Given the description of an element on the screen output the (x, y) to click on. 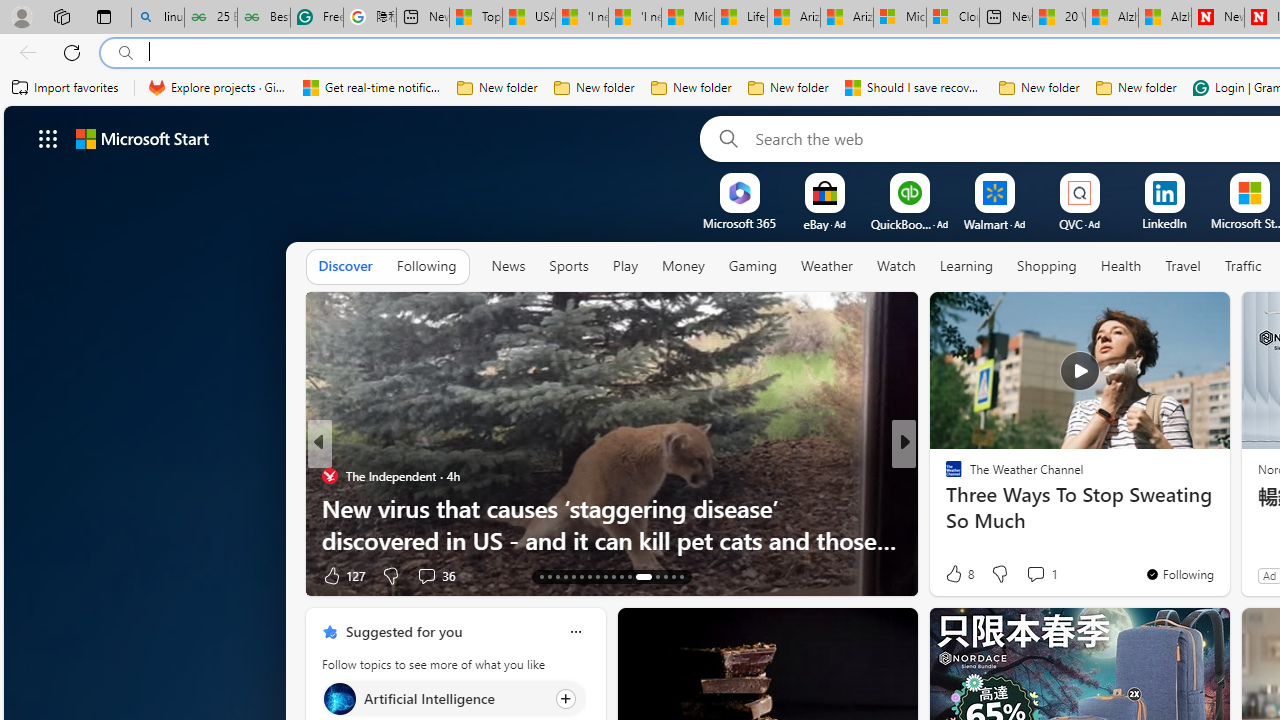
Click to follow topic Artificial Intelligence (453, 698)
linux basic - Search (157, 17)
View comments 7 Comment (1036, 575)
AutomationID: tab-18 (581, 576)
Suggested for you (404, 631)
